Given the description of an element on the screen output the (x, y) to click on. 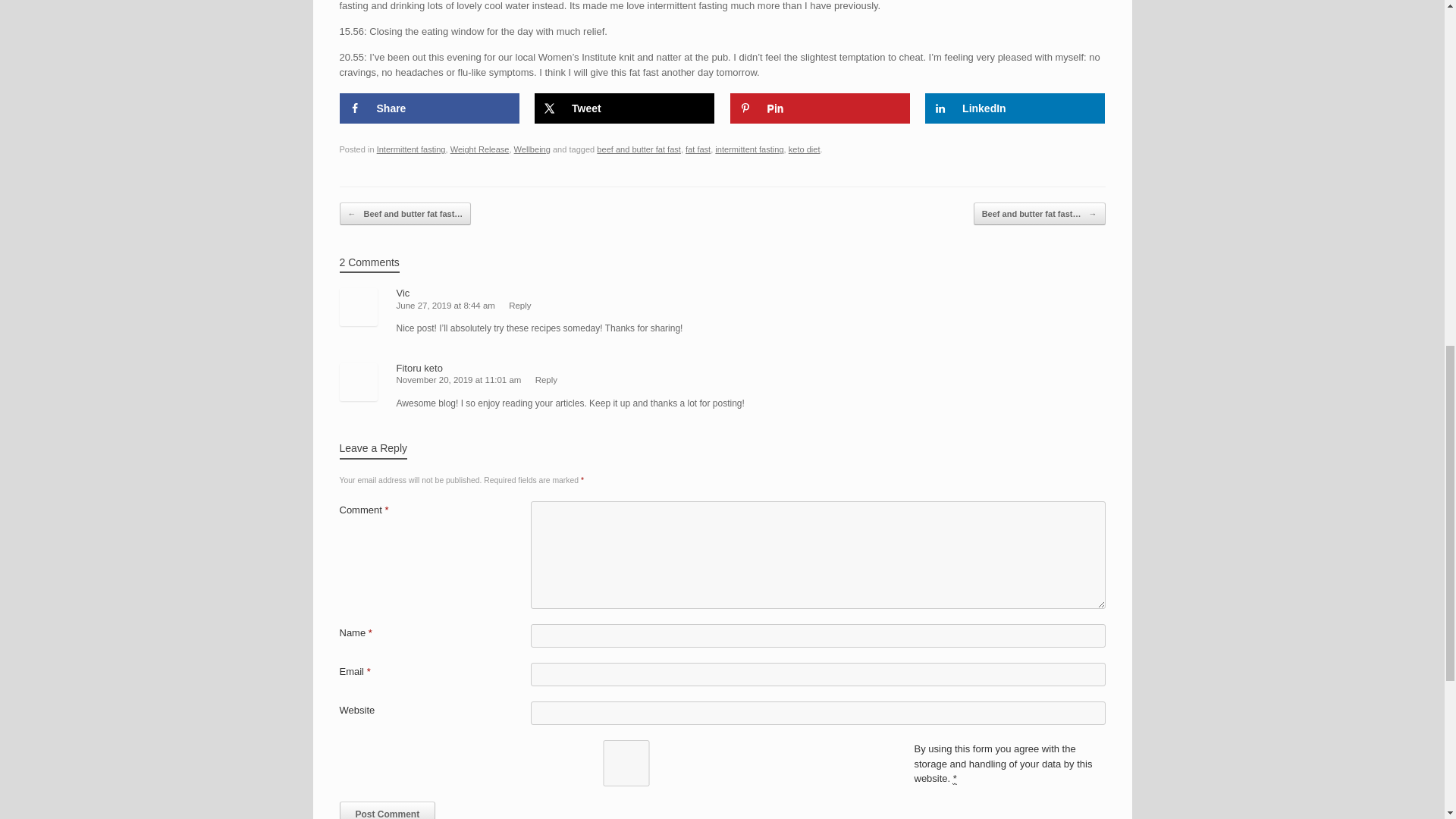
Wellbeing (531, 148)
Fitoru keto (419, 367)
fat fast (697, 148)
intermittent fasting (748, 148)
Intermittent fasting (411, 148)
Vic (402, 292)
Tweet (624, 108)
Reply (546, 379)
Weight Release (479, 148)
LinkedIn (1014, 108)
beef and butter fat fast (638, 148)
Share (429, 108)
Reply (519, 305)
You need to accept this checkbox. (954, 778)
Share on X (624, 108)
